Given the description of an element on the screen output the (x, y) to click on. 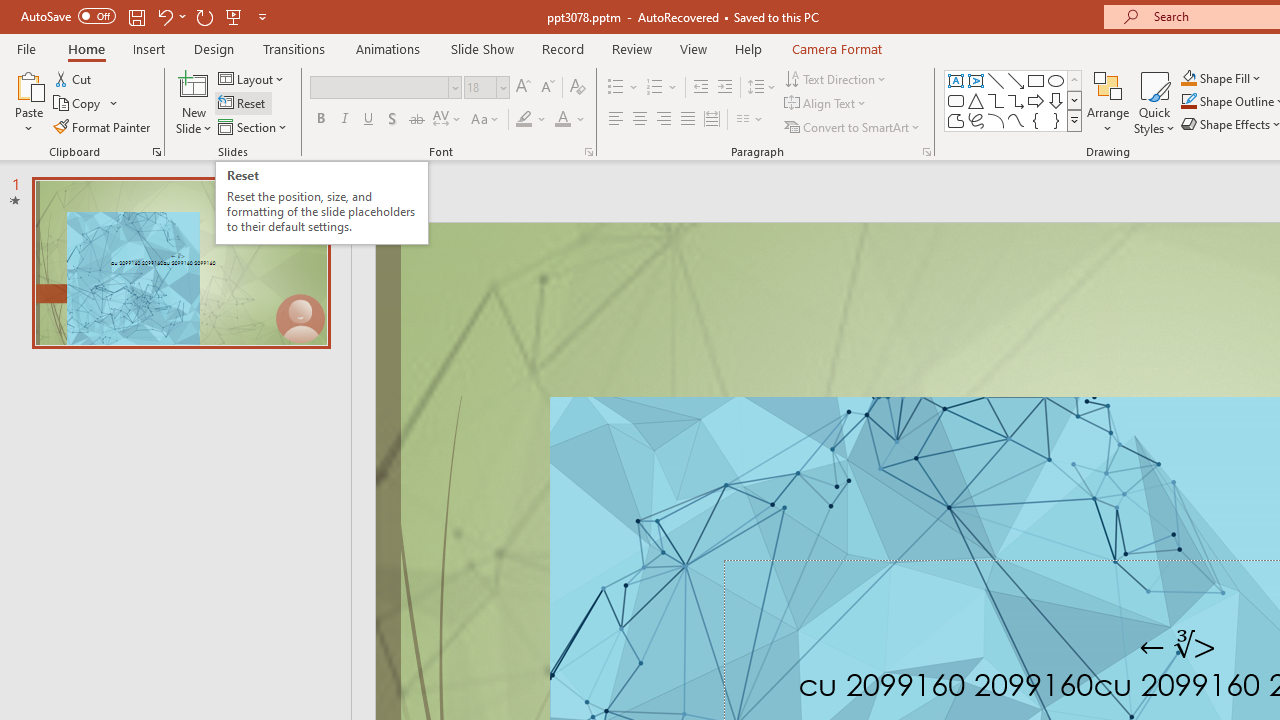
Line (995, 80)
Font (385, 87)
Font Size (480, 87)
Copy (85, 103)
Paste (28, 102)
Rectangle: Rounded Corners (955, 100)
Class: NetUIImage (1075, 120)
Freeform: Shape (955, 120)
Paste (28, 84)
Text Box (955, 80)
Section (254, 126)
